Given the description of an element on the screen output the (x, y) to click on. 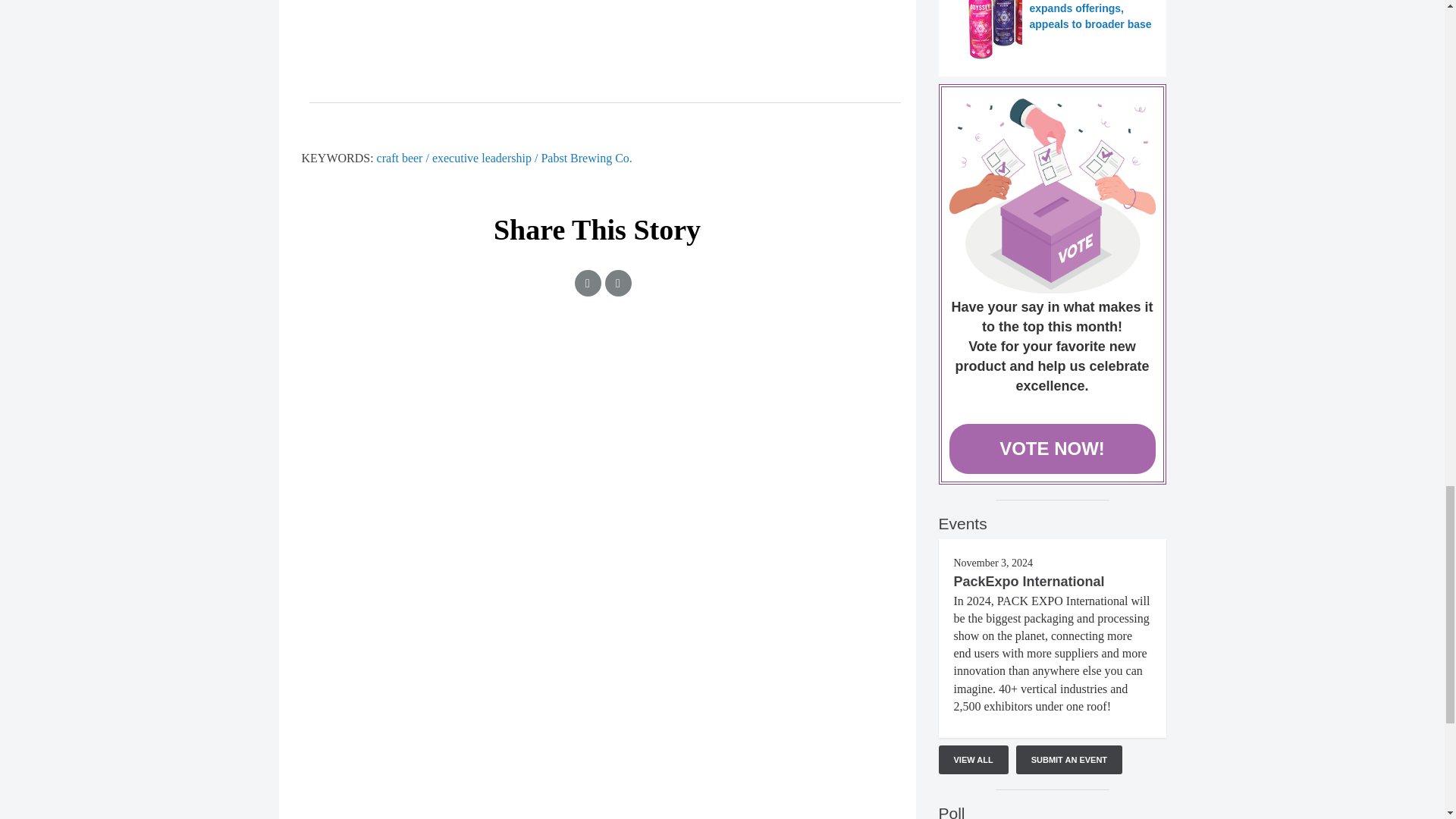
Vote (1052, 195)
PackExpo International (1029, 581)
